Given the description of an element on the screen output the (x, y) to click on. 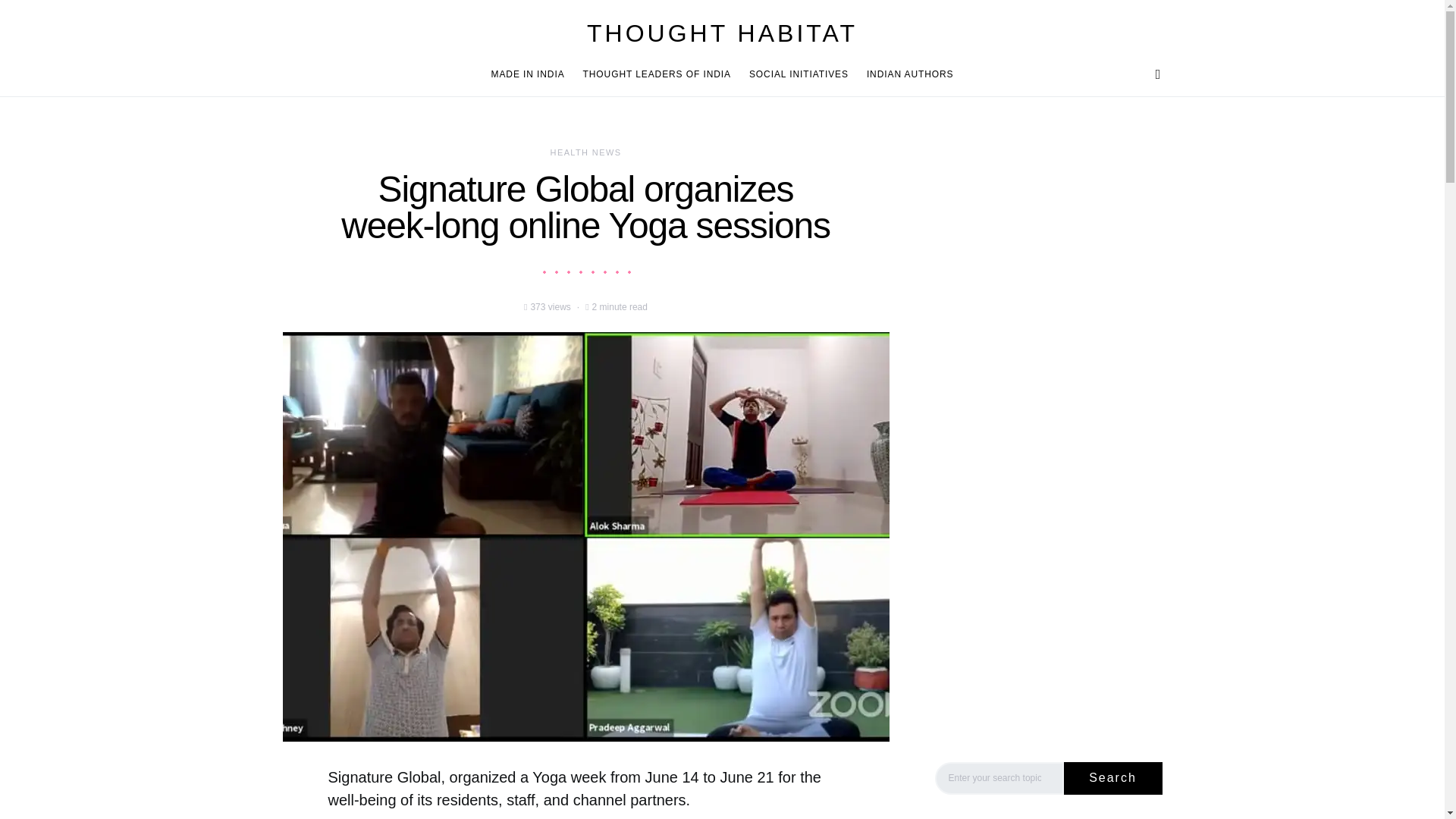
THOUGHT HABITAT (721, 33)
THOUGHT LEADERS OF INDIA (656, 74)
SOCIAL INITIATIVES (798, 74)
HEALTH NEWS (585, 152)
INDIAN AUTHORS (905, 74)
MADE IN INDIA (532, 74)
